Given the description of an element on the screen output the (x, y) to click on. 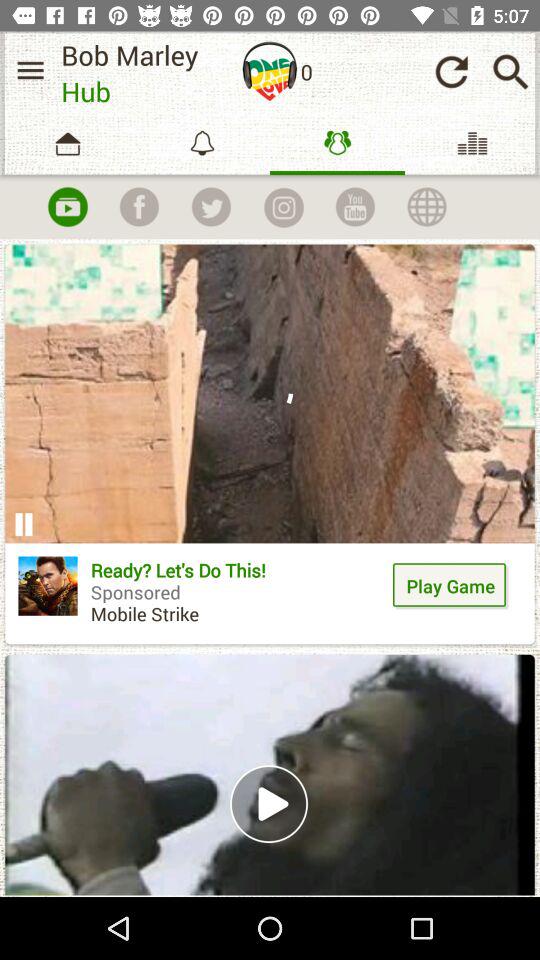
go to previous (451, 71)
